Given the description of an element on the screen output the (x, y) to click on. 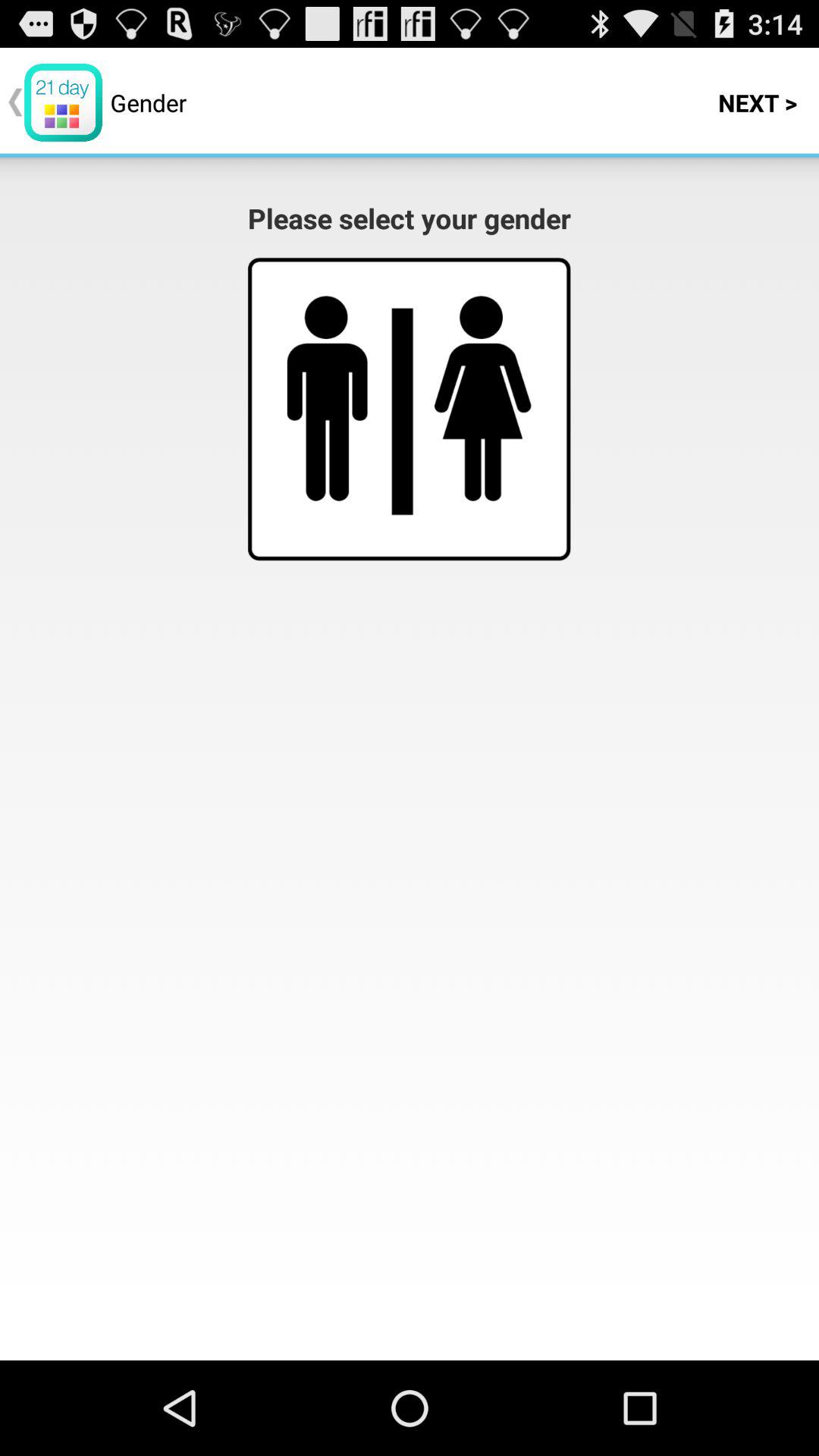
image button (482, 398)
